Given the description of an element on the screen output the (x, y) to click on. 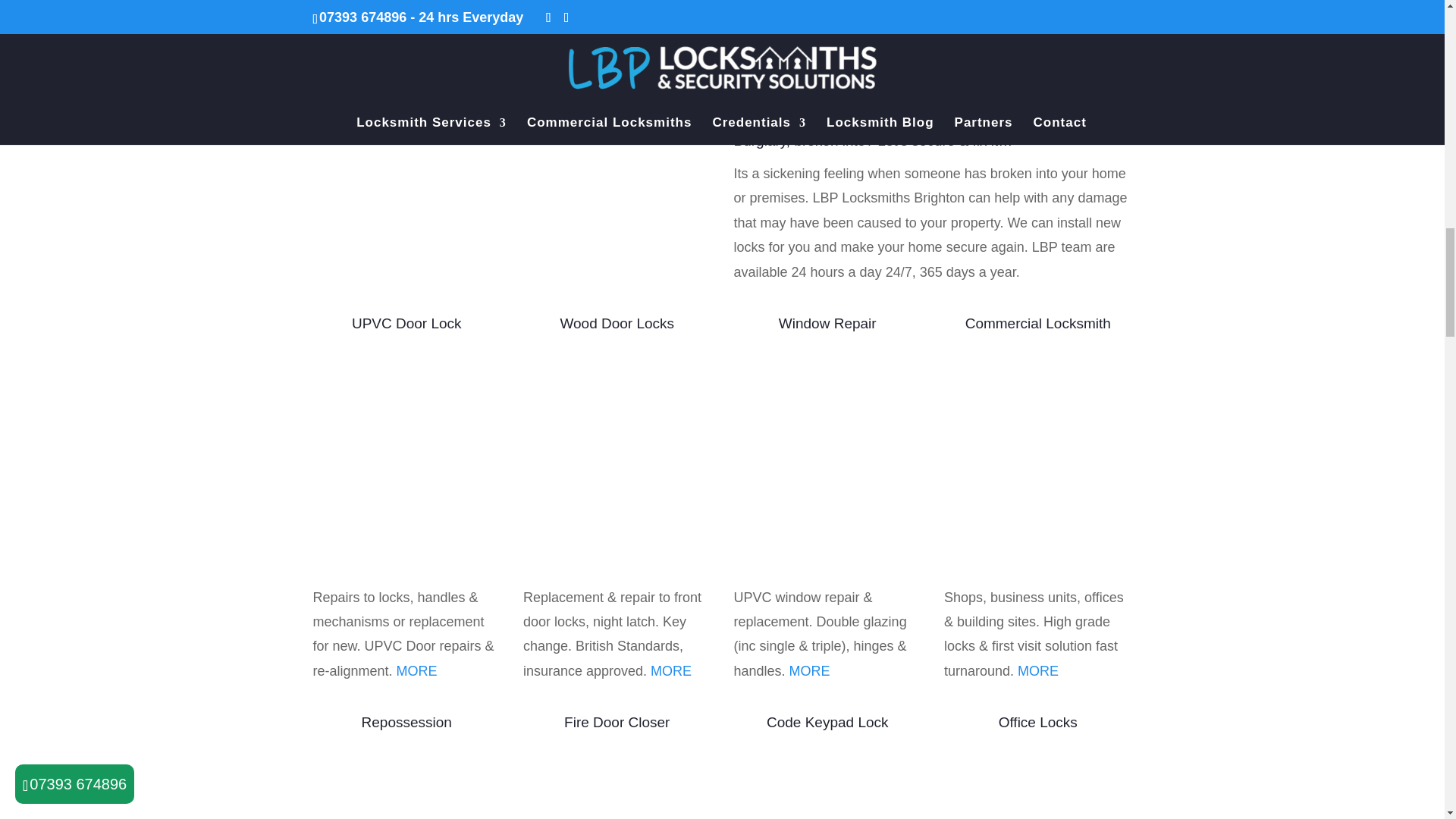
MORE (670, 670)
MORE (417, 670)
MORE (809, 670)
